Given the description of an element on the screen output the (x, y) to click on. 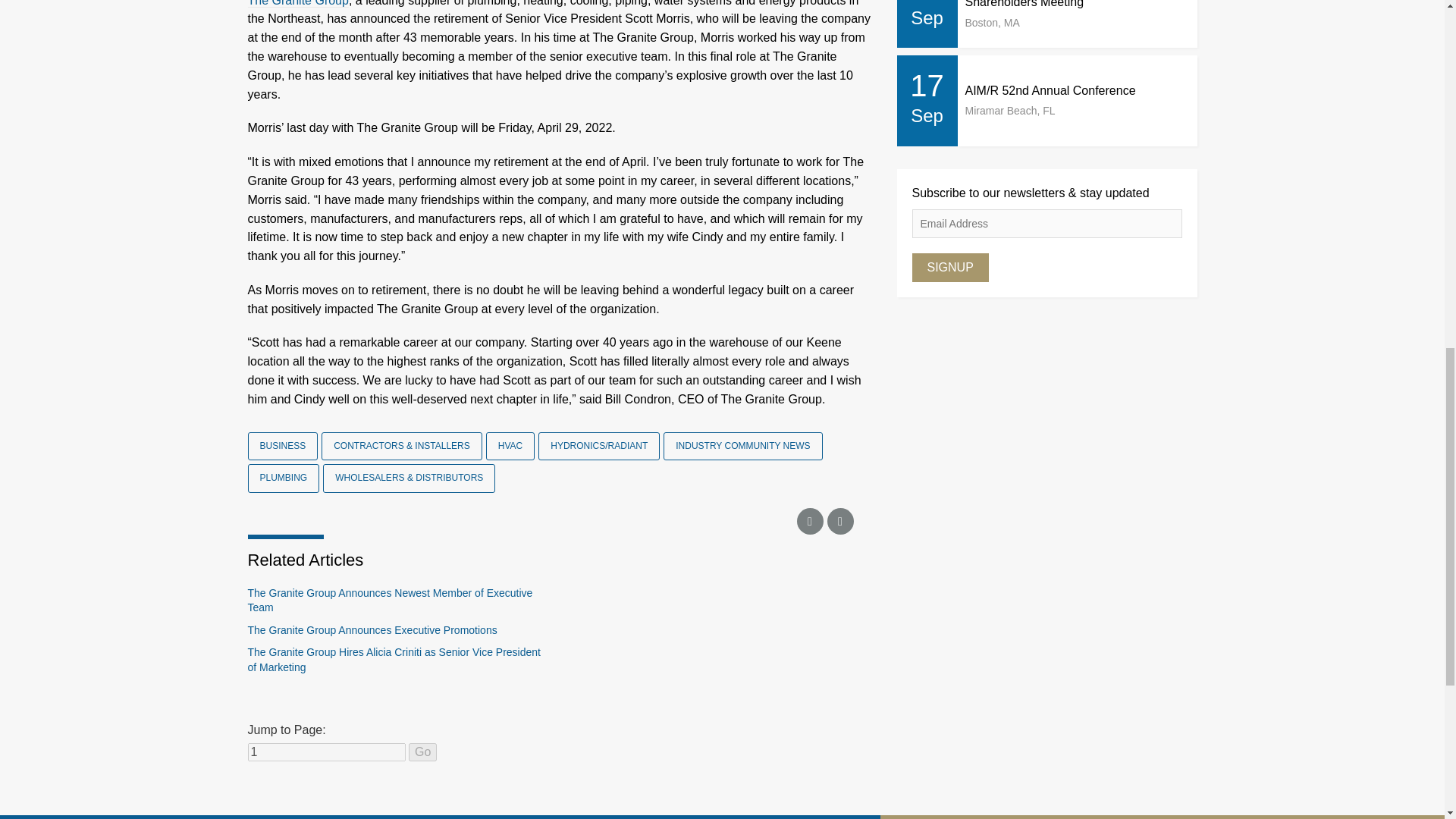
Go (422, 751)
SIGNUP (949, 267)
1 (325, 751)
